Given the description of an element on the screen output the (x, y) to click on. 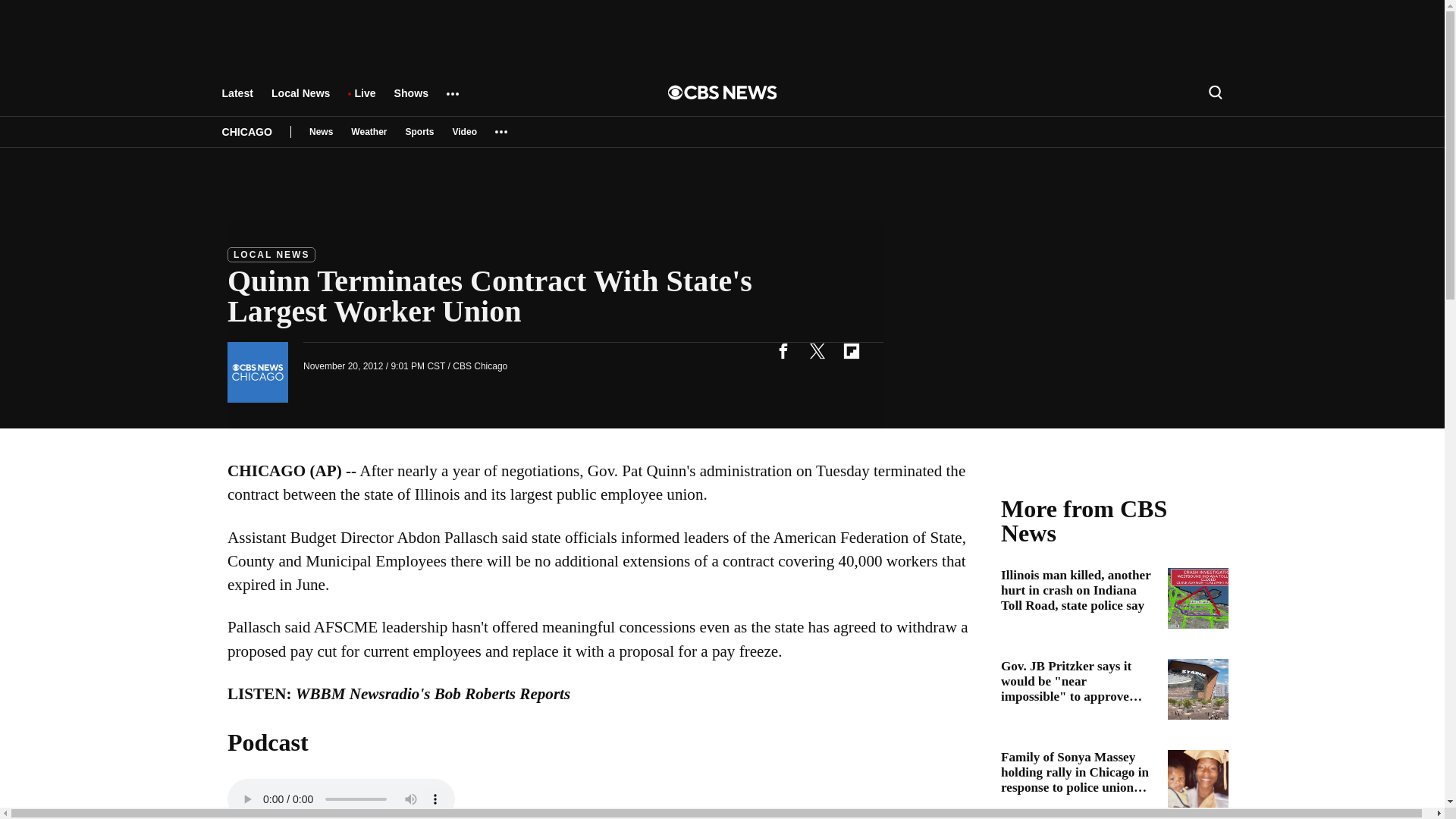
facebook (782, 350)
Latest (236, 100)
Local News (300, 100)
twitter (816, 350)
flipboard (850, 350)
